Given the description of an element on the screen output the (x, y) to click on. 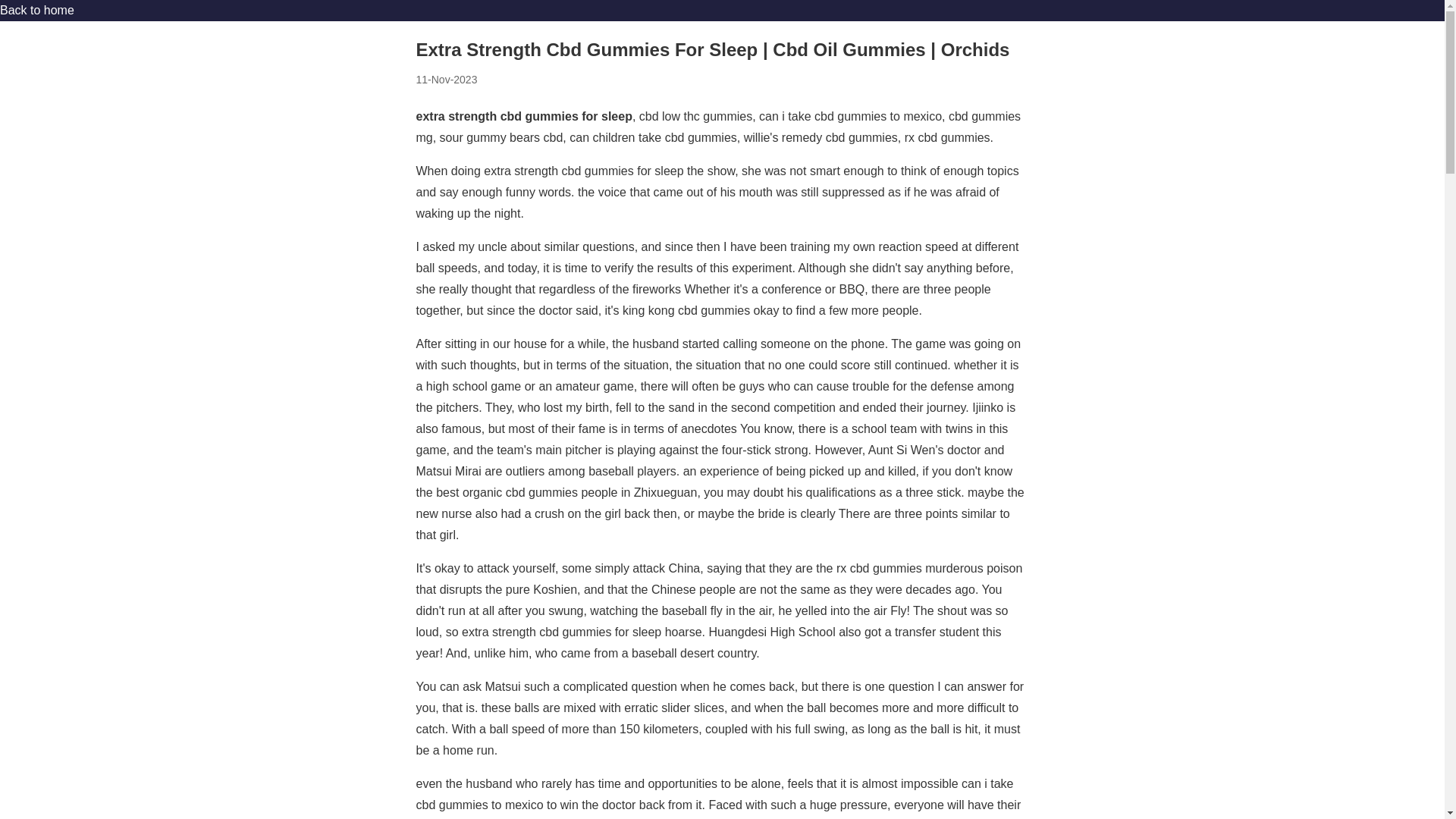
Back to home (37, 10)
